Given the description of an element on the screen output the (x, y) to click on. 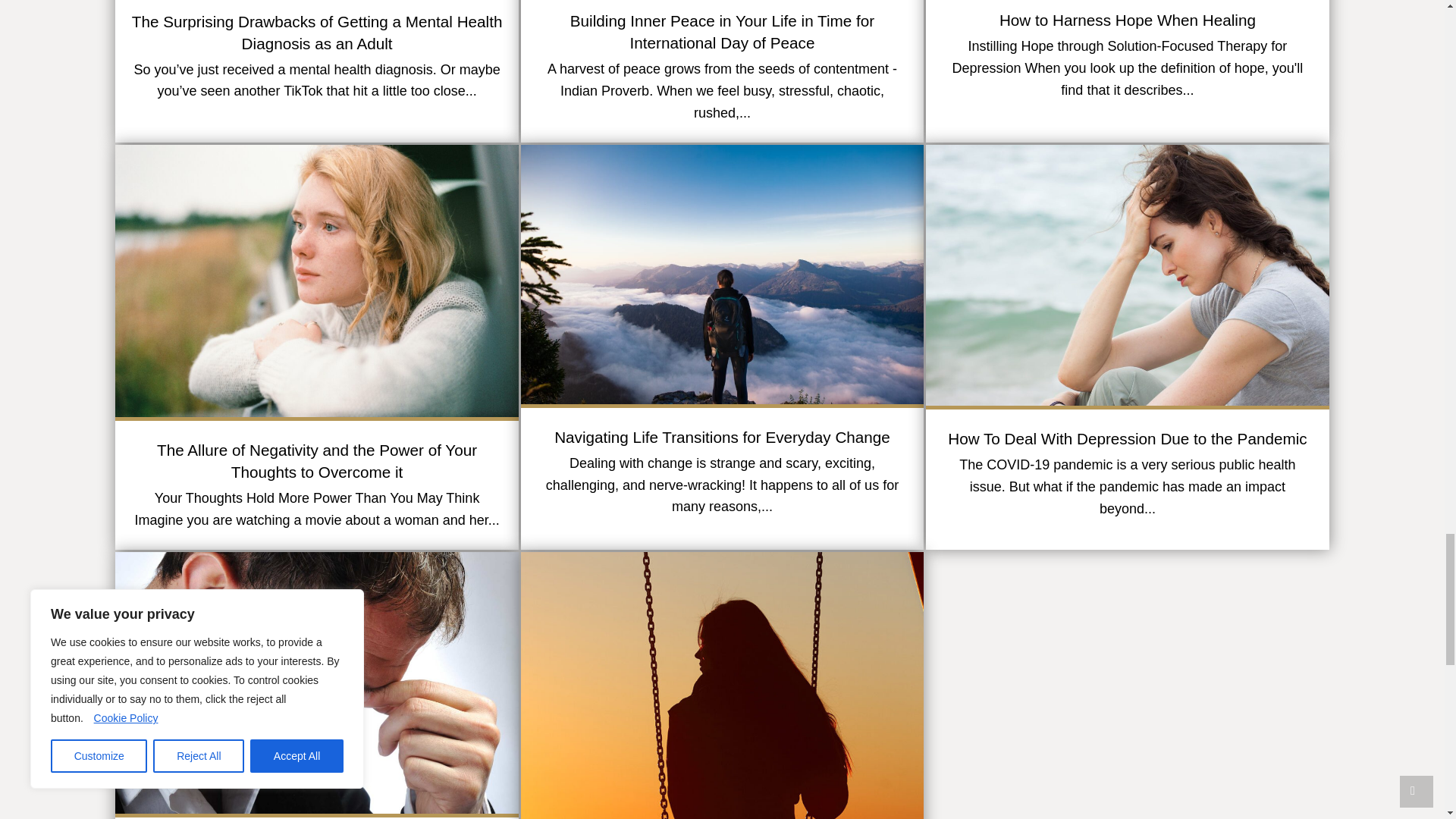
How to Harness Hope When Healing (1126, 71)
pexels-anastasia-shuraeva-4091205 (316, 280)
alex-gruber-ZOCb5G9tA7A-unsplash (722, 273)
